Given the description of an element on the screen output the (x, y) to click on. 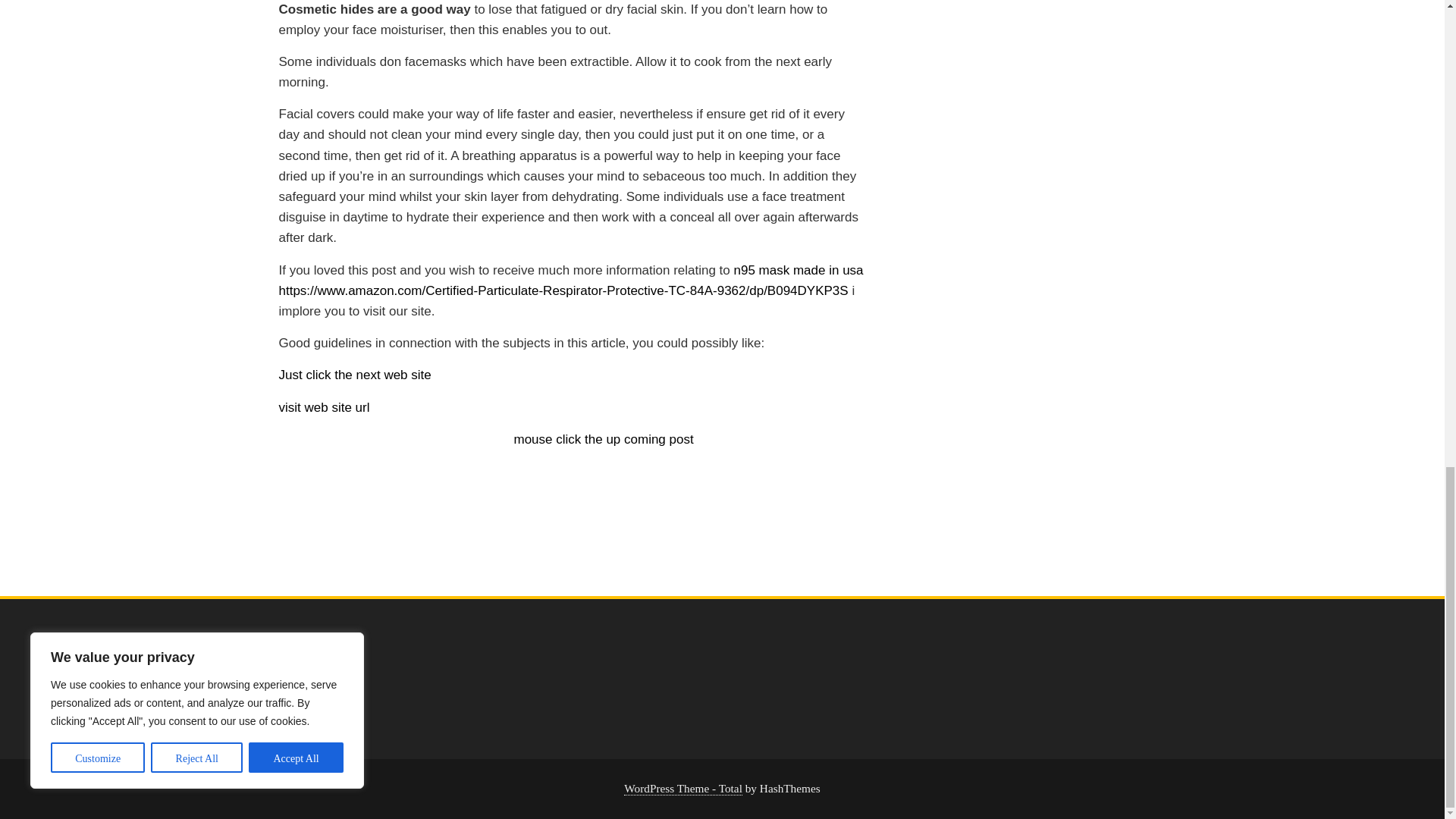
mouse click the up coming post (603, 439)
Just click the next web site (354, 374)
visit web site url (324, 407)
